Given the description of an element on the screen output the (x, y) to click on. 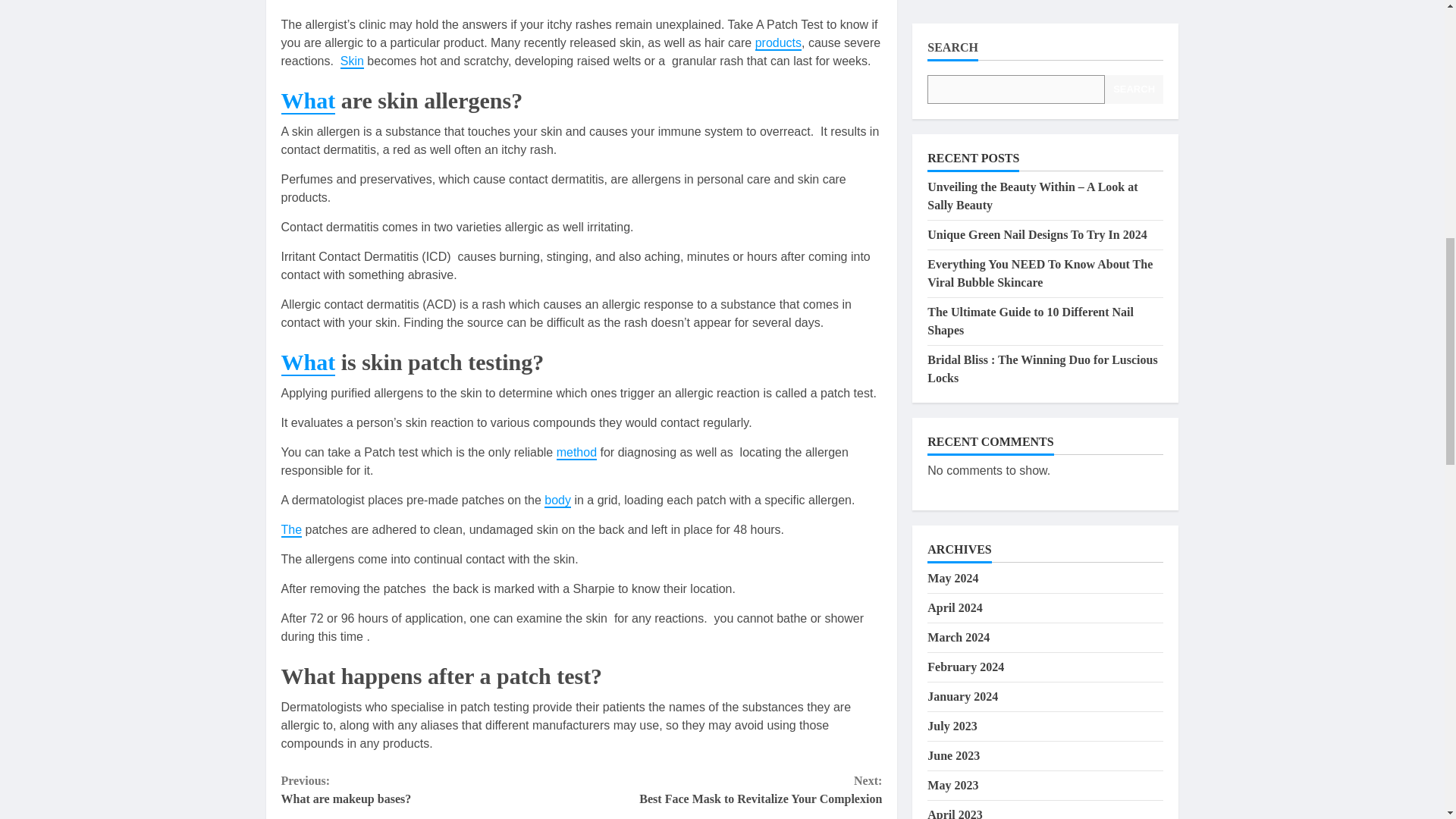
What (731, 790)
body (307, 362)
products (557, 500)
What (778, 43)
Skin (430, 790)
The (307, 100)
method (352, 61)
